Given the description of an element on the screen output the (x, y) to click on. 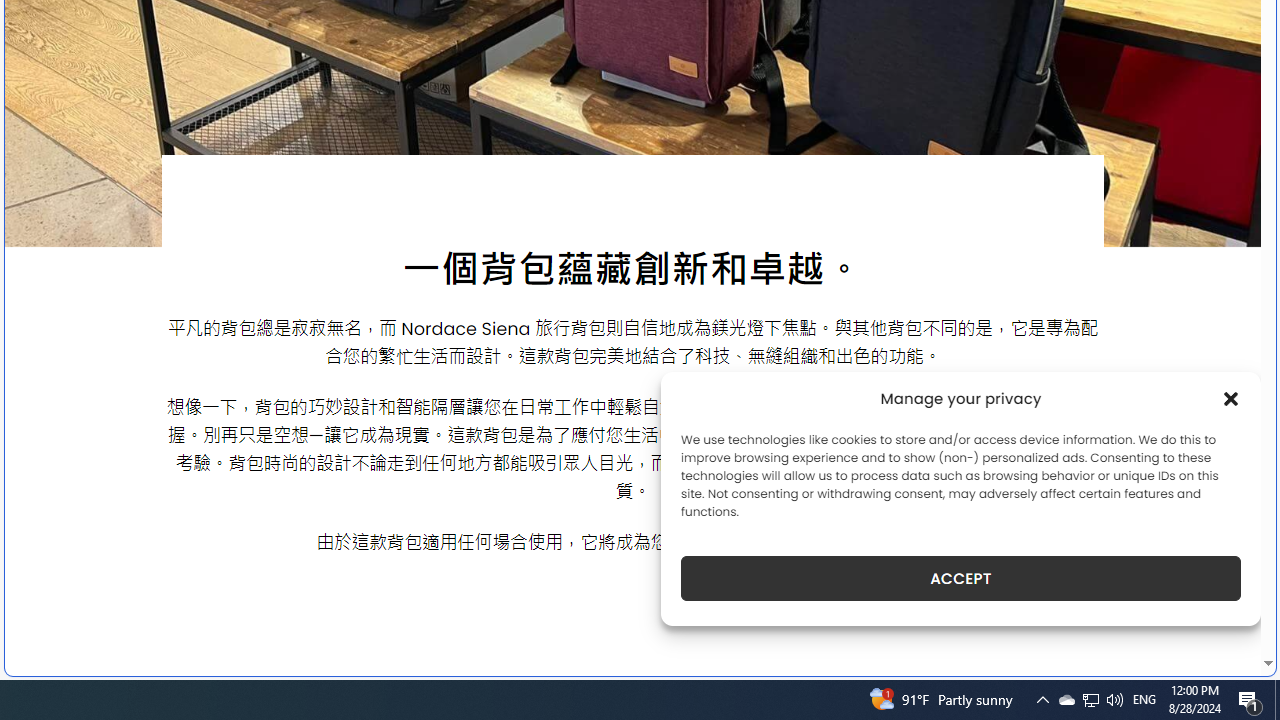
Class: cmplz-close (1231, 398)
ACCEPT (960, 578)
